Given the description of an element on the screen output the (x, y) to click on. 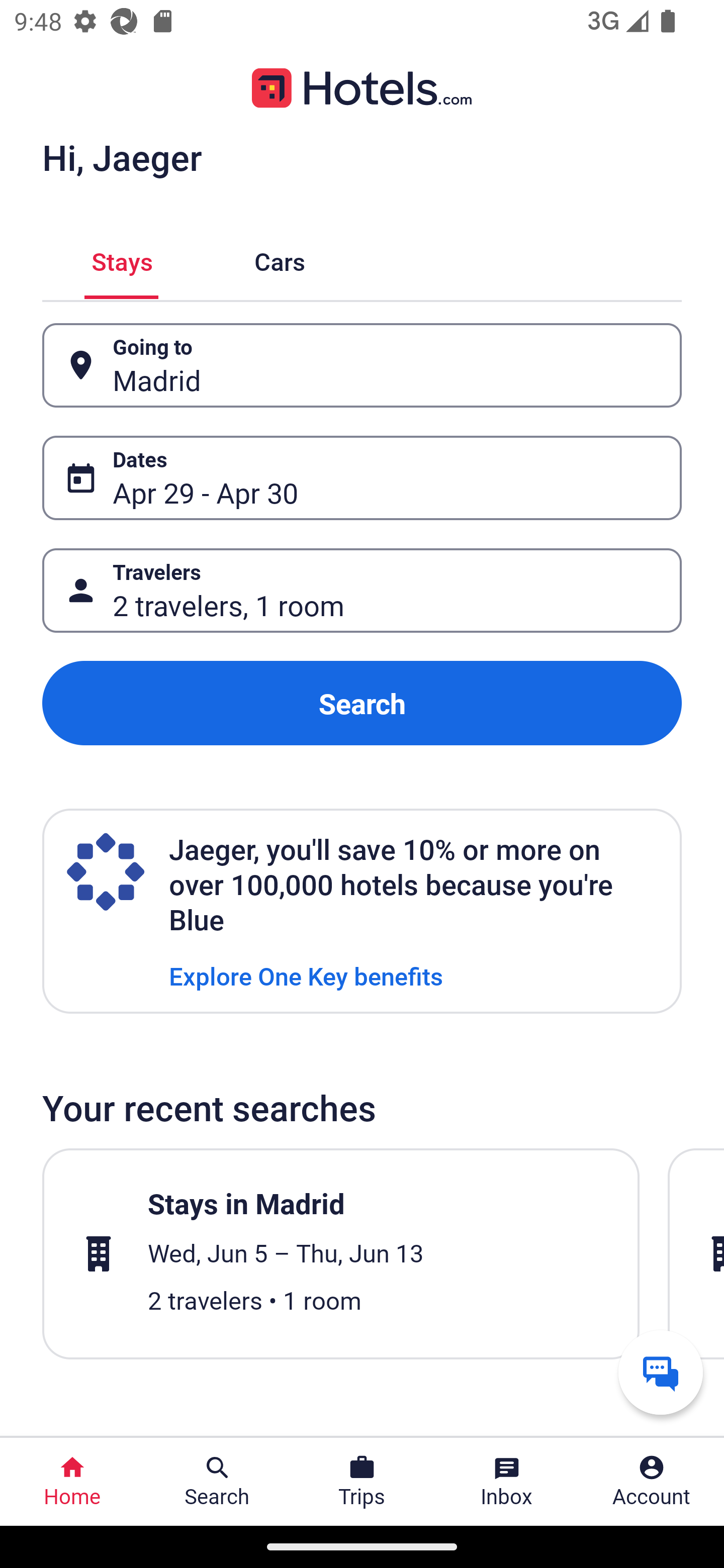
Hi, Jaeger (121, 156)
Cars (279, 259)
Going to Button Madrid (361, 365)
Dates Button Apr 29 - Apr 30 (361, 477)
Travelers Button 2 travelers, 1 room (361, 590)
Search (361, 702)
Get help from a virtual agent (660, 1371)
Search Search Button (216, 1481)
Trips Trips Button (361, 1481)
Inbox Inbox Button (506, 1481)
Account Profile. Button (651, 1481)
